Given the description of an element on the screen output the (x, y) to click on. 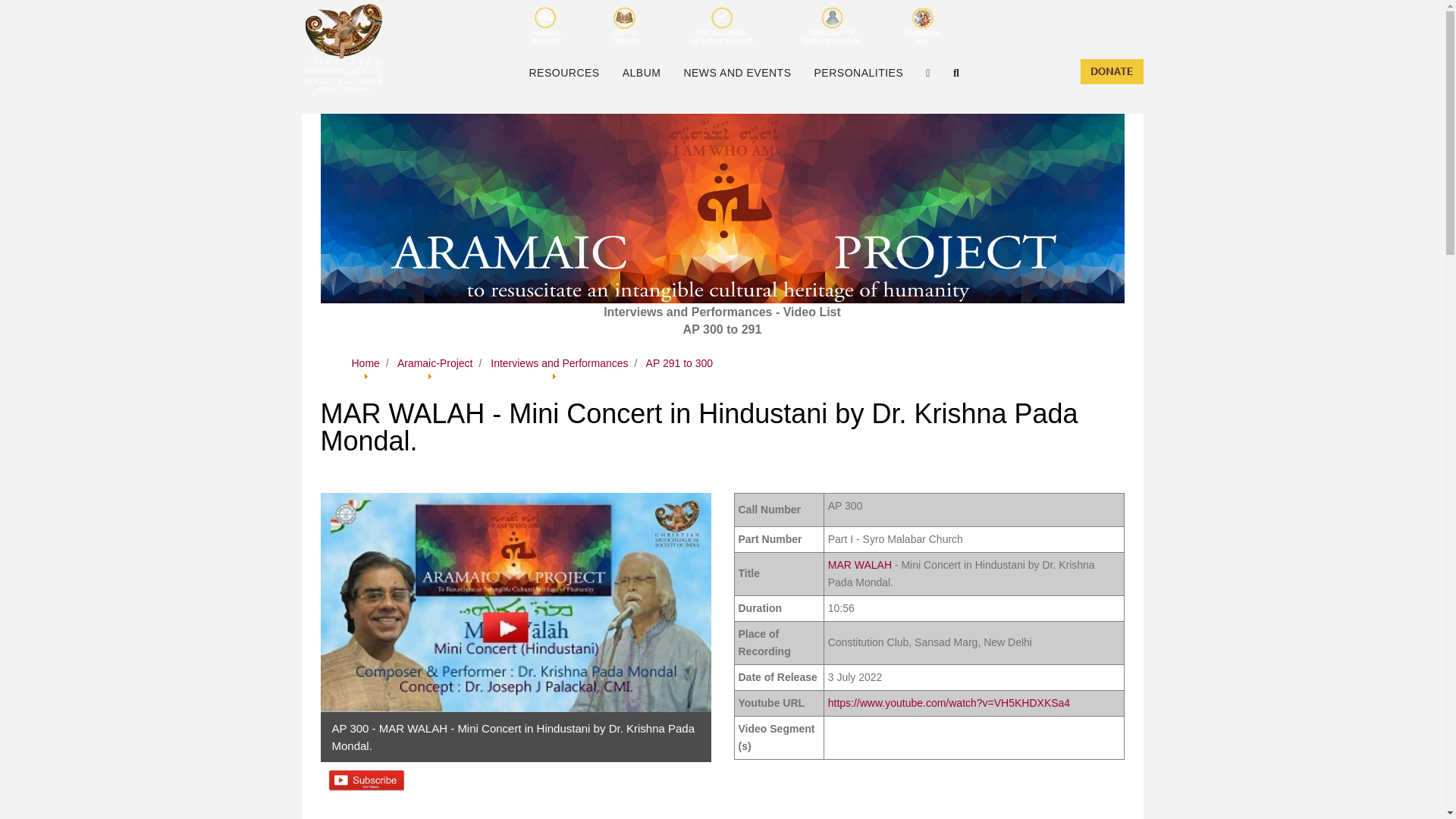
NEWS AND EVENTS (736, 72)
PERSONALITIES (859, 72)
ALBUM (641, 72)
RESOURCES (563, 72)
